Given the description of an element on the screen output the (x, y) to click on. 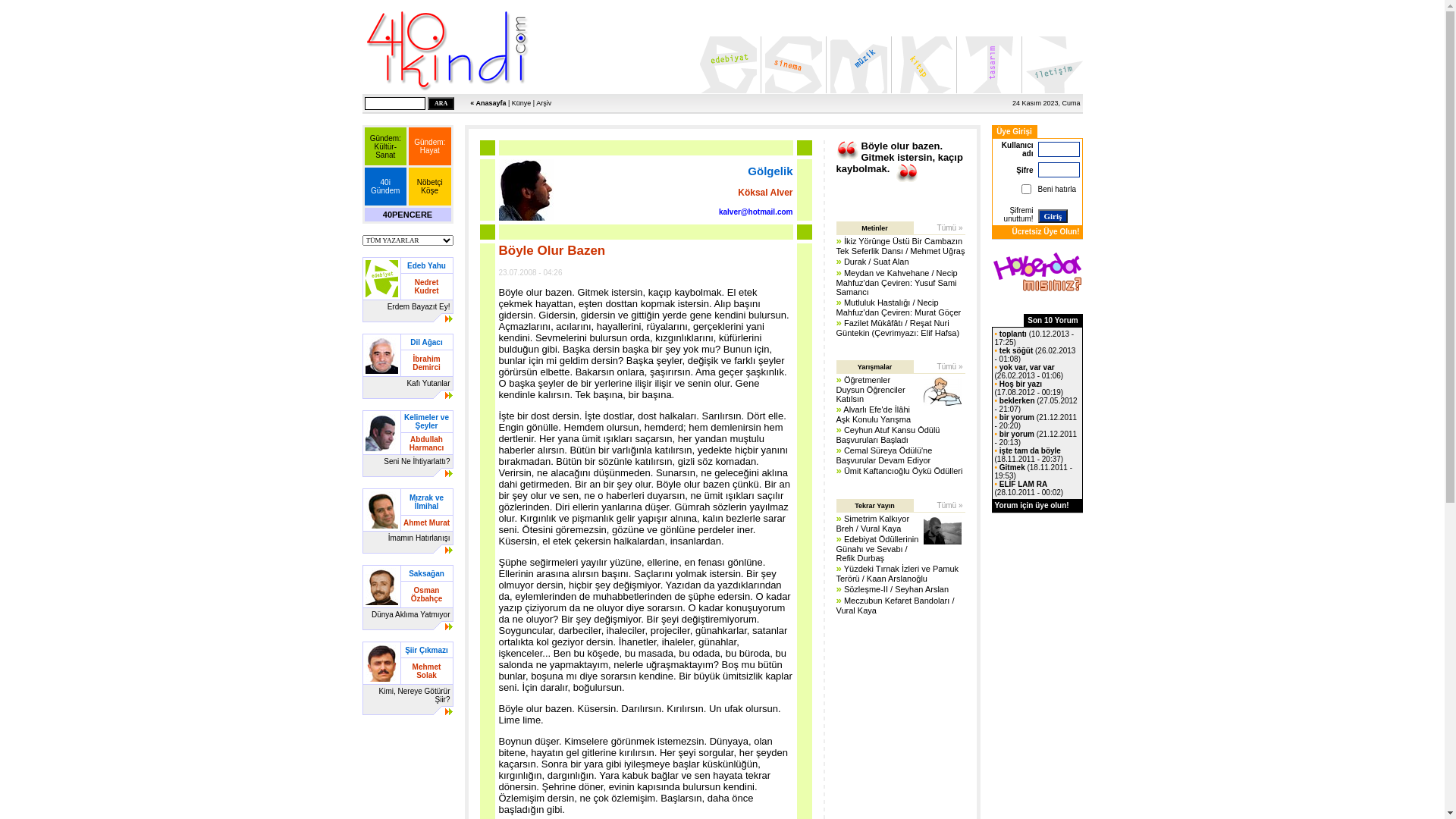
Gitmek (18.11.2011 - 19:53) Element type: text (1033, 471)
Nedret Kudret Element type: text (426, 285)
beklerken (27.05.2012 - 21:07) Element type: text (1035, 404)
ARA Element type: text (440, 103)
bir yorum (21.12.2011 - 20:13) Element type: text (1035, 437)
kalver@hotmail.com Element type: text (755, 210)
Anasayfa Element type: hover (447, 49)
bir yorum (21.12.2011 - 20:20) Element type: text (1035, 421)
Durak / Suat Alan Element type: text (876, 261)
Sinema Element type: hover (792, 64)
yok var, var var (26.02.2013 - 01:06) Element type: text (1028, 371)
Mehmet Solak Element type: text (426, 670)
Edeb Yahu Element type: text (426, 264)
Ahmet Murat Element type: text (426, 521)
Haberdar Element type: hover (1036, 271)
Edebiyat Element type: hover (727, 64)
Kitap Element type: hover (922, 64)
